Given the description of an element on the screen output the (x, y) to click on. 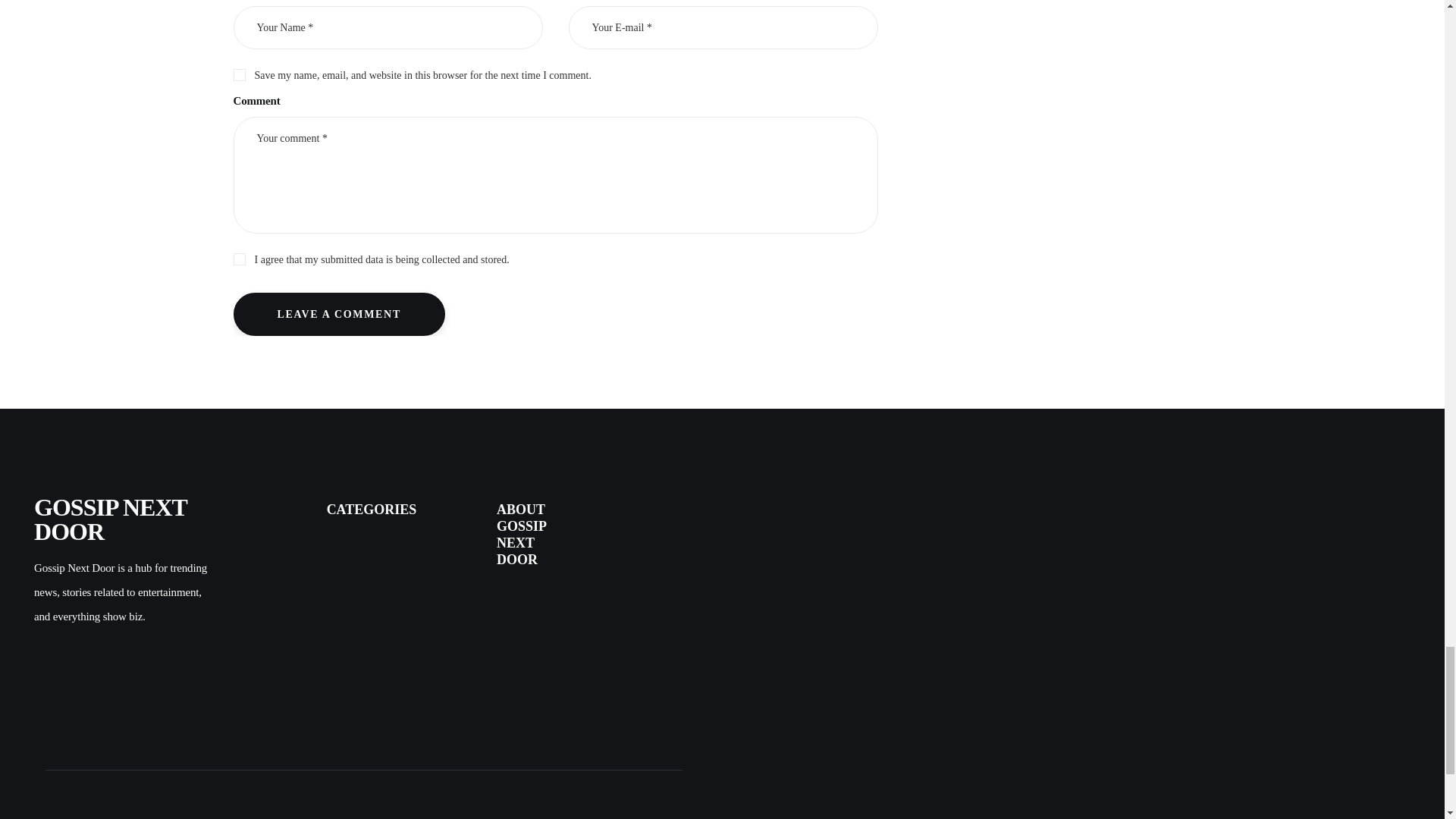
yes (237, 72)
1 (554, 257)
